Given the description of an element on the screen output the (x, y) to click on. 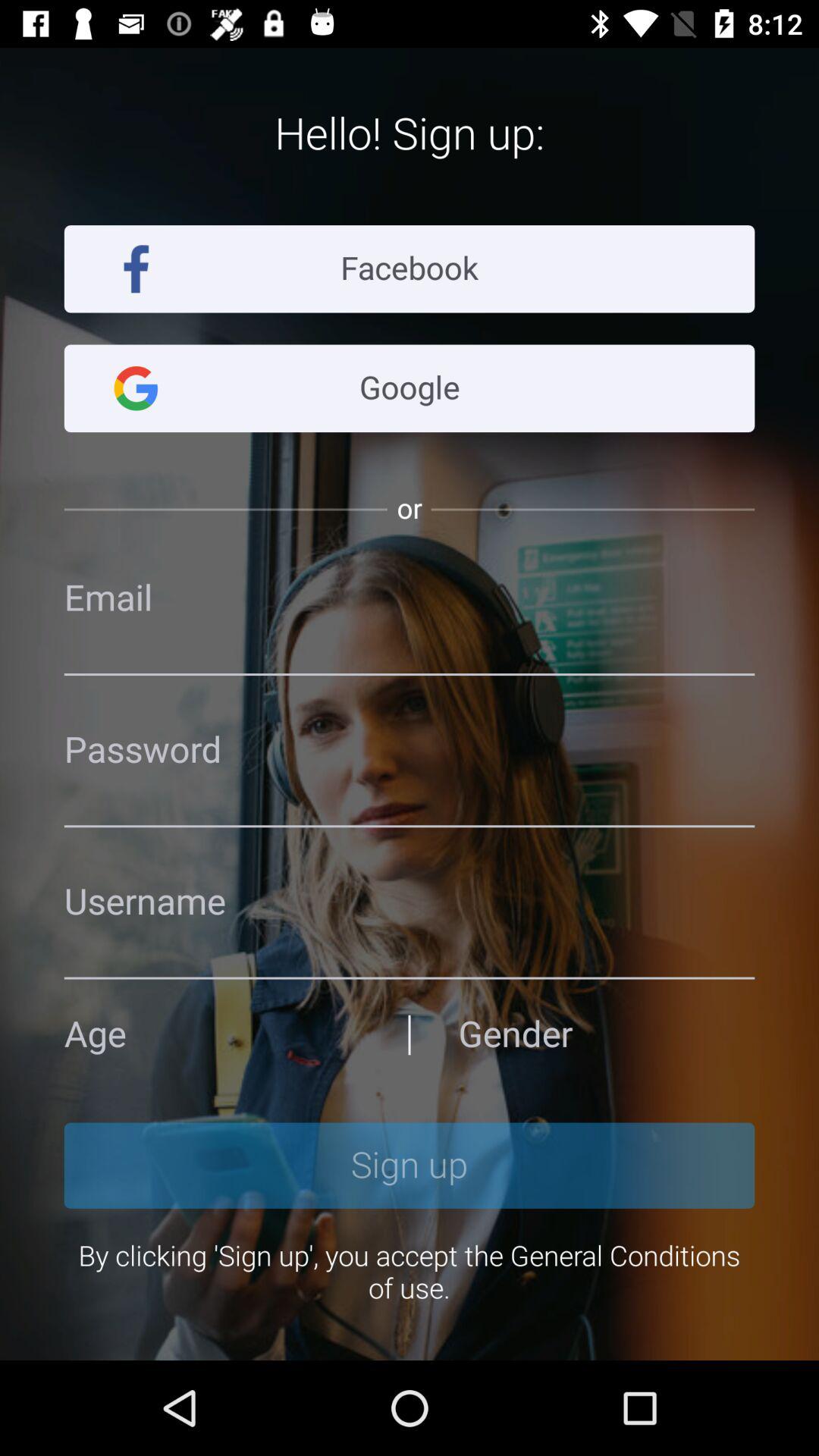
gernder option (606, 1034)
